Given the description of an element on the screen output the (x, y) to click on. 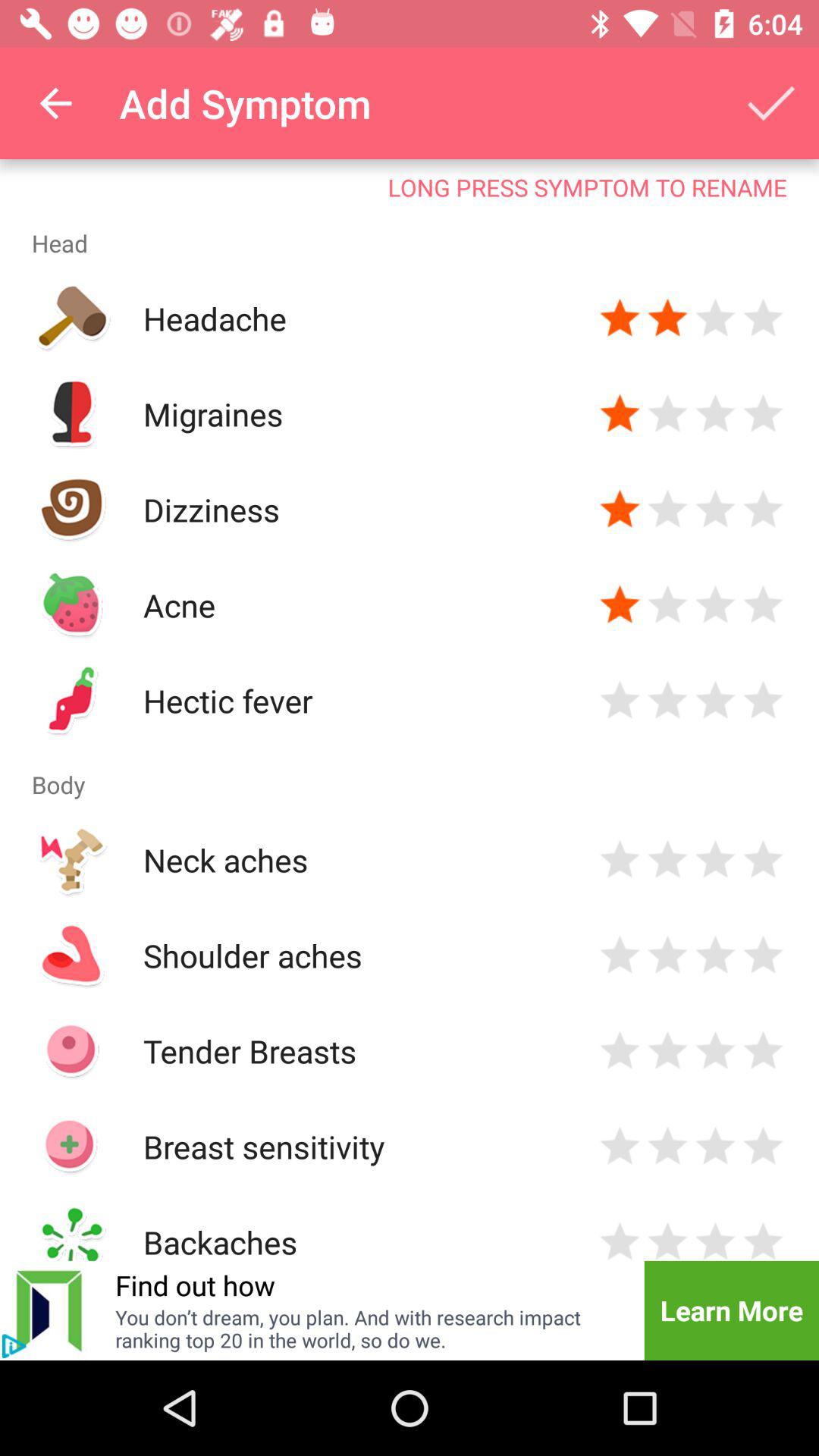
choose the icon above the long press symptom (55, 103)
